Given the description of an element on the screen output the (x, y) to click on. 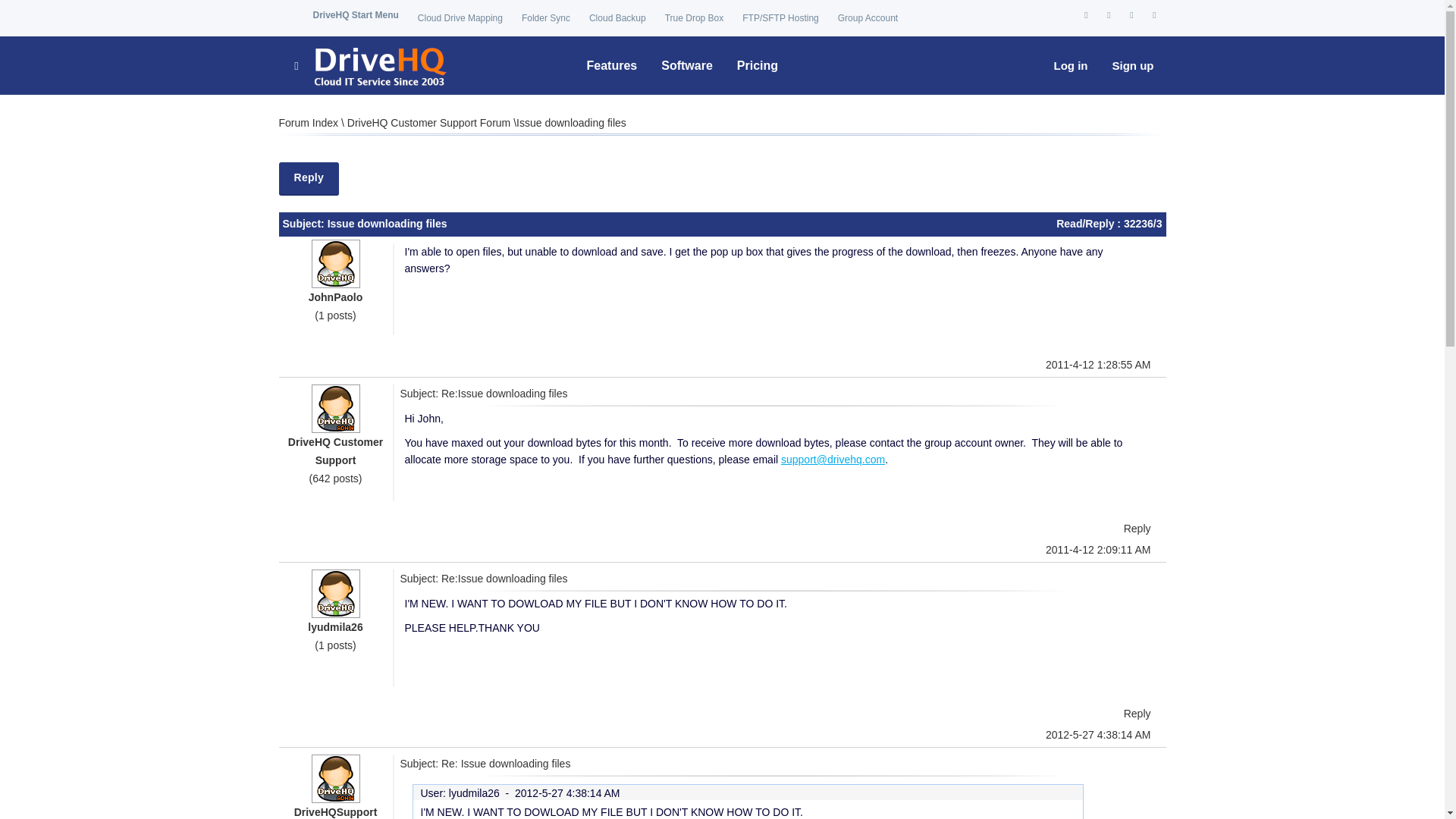
Automatically back up PC, Mac and Server to the cloud (617, 18)
DriveHQ Cloud IT Service Home (369, 65)
Group Account (868, 18)
True Drop Box (694, 18)
Cloud Backup (617, 18)
Folder Sync (545, 18)
DriveHQ Start Menu (355, 15)
Cloud Drive Mapping (459, 18)
Complete FTP Server hosting solution (780, 18)
